Given the description of an element on the screen output the (x, y) to click on. 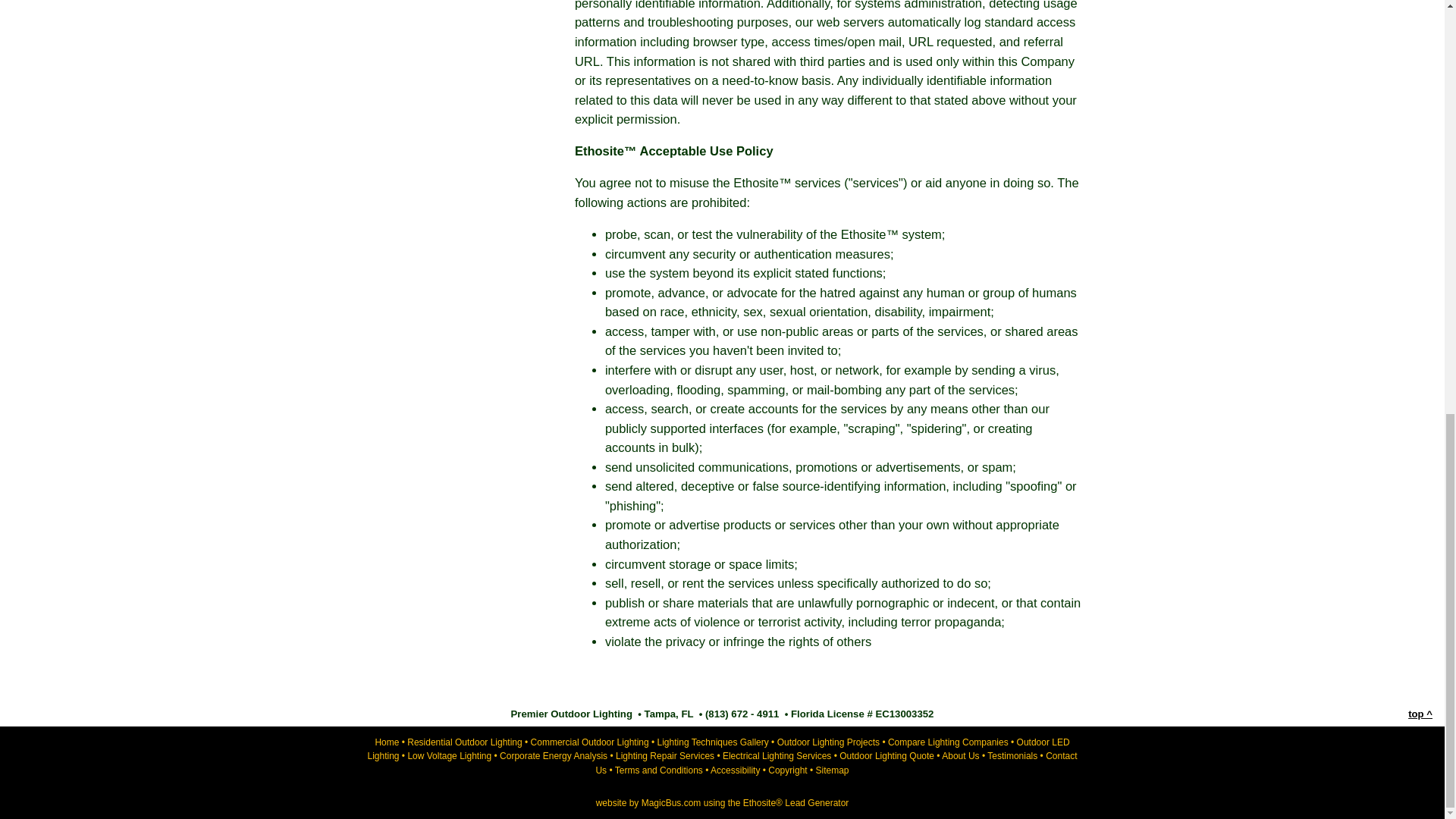
Lighting Repair Services (664, 756)
Terms and Conditions (658, 769)
Contact Us (836, 763)
MagicBus.com (671, 802)
Compare Lighting Companies (948, 742)
Lighting Techniques Gallery (713, 742)
Copyright (787, 769)
Home (386, 742)
Commercial Outdoor Lighting (590, 742)
Testimonials (1011, 756)
Outdoor Lighting Quote (887, 756)
Corporate Energy Analysis (553, 756)
About Us (960, 756)
Residential Outdoor Lighting (464, 742)
Outdoor LED Lighting (717, 749)
